Given the description of an element on the screen output the (x, y) to click on. 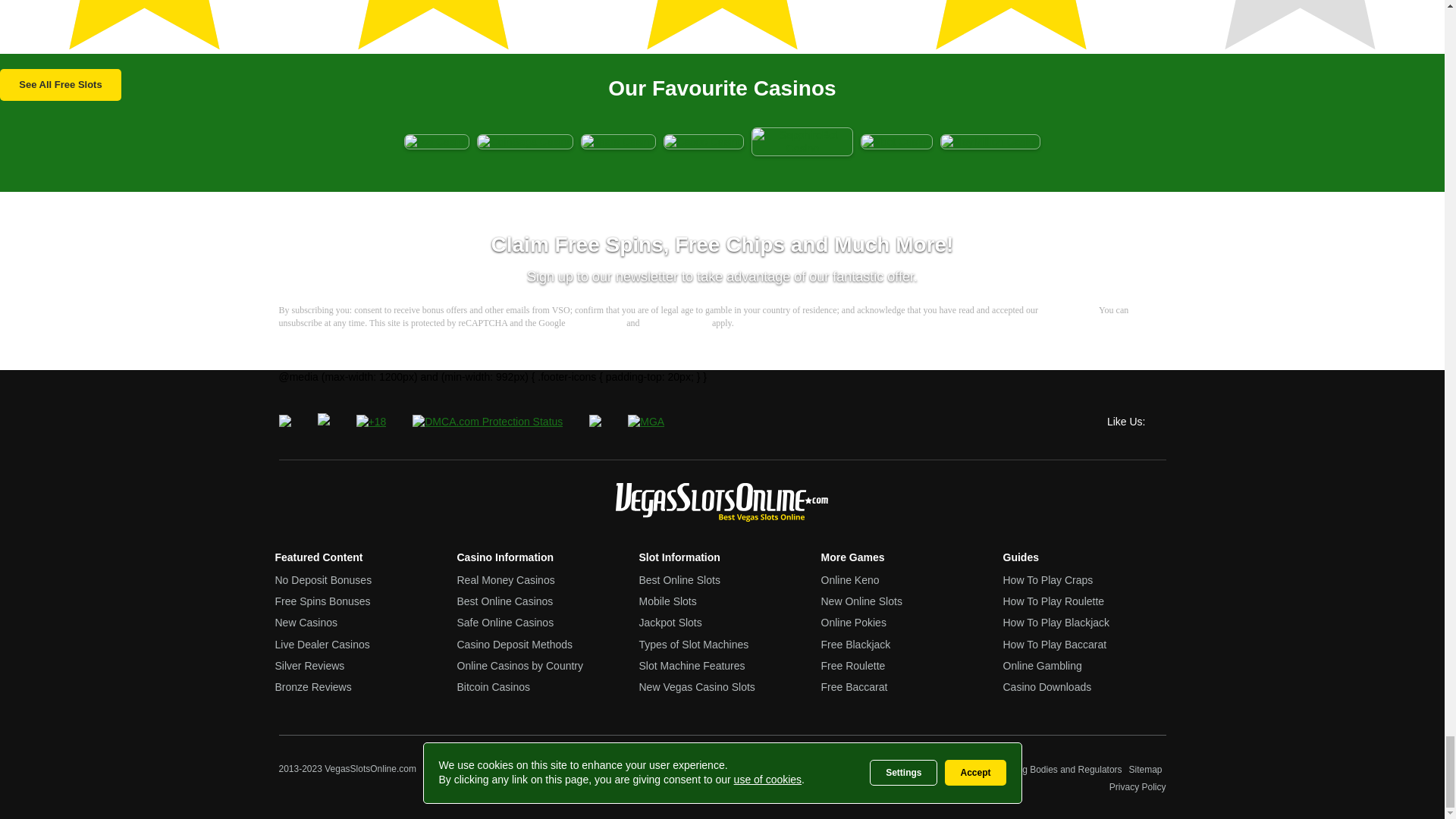
Gonzo's Quest (722, 27)
